Given the description of an element on the screen output the (x, y) to click on. 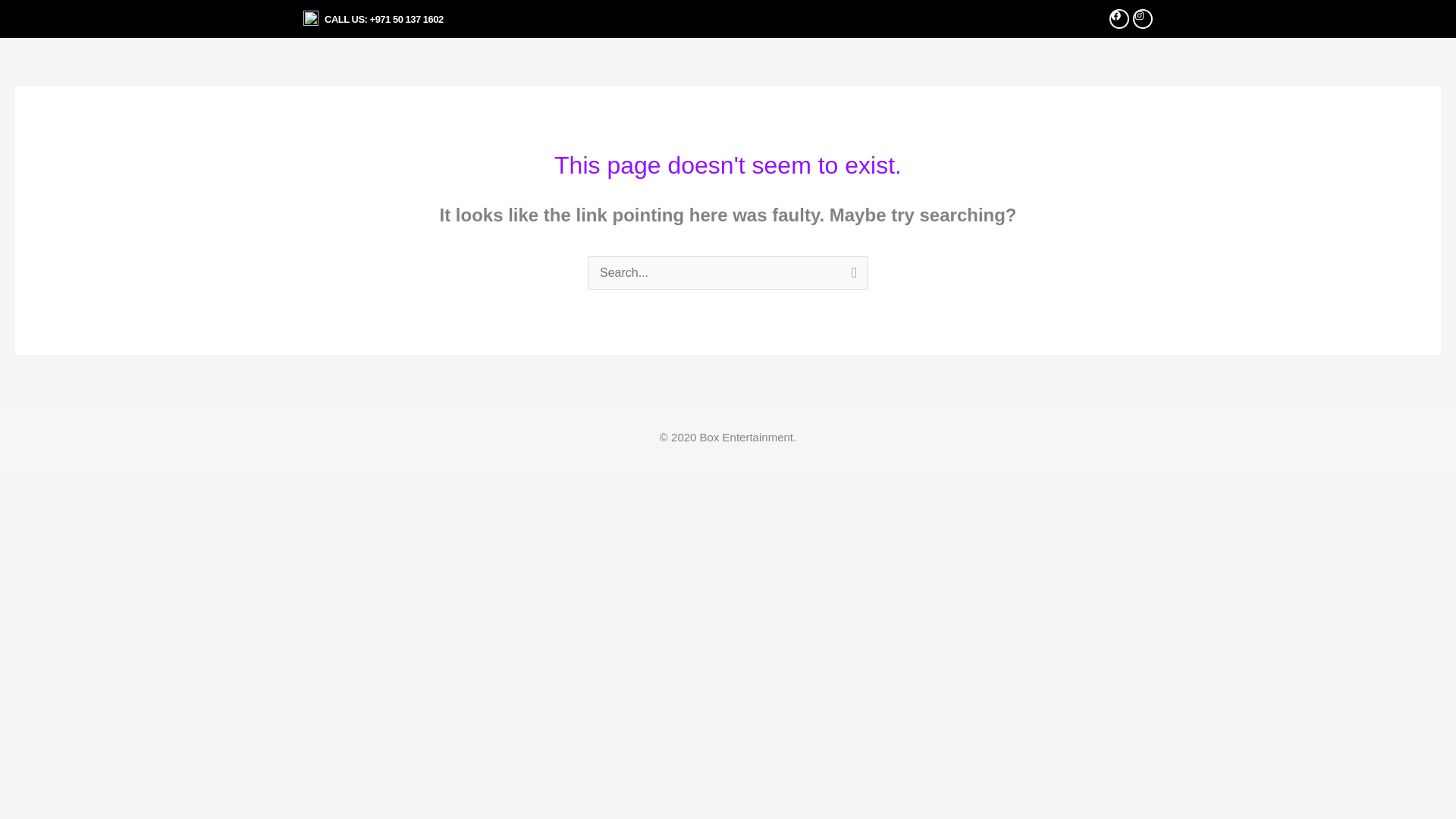
Facebook (1119, 18)
Instagram (1142, 18)
